Given the description of an element on the screen output the (x, y) to click on. 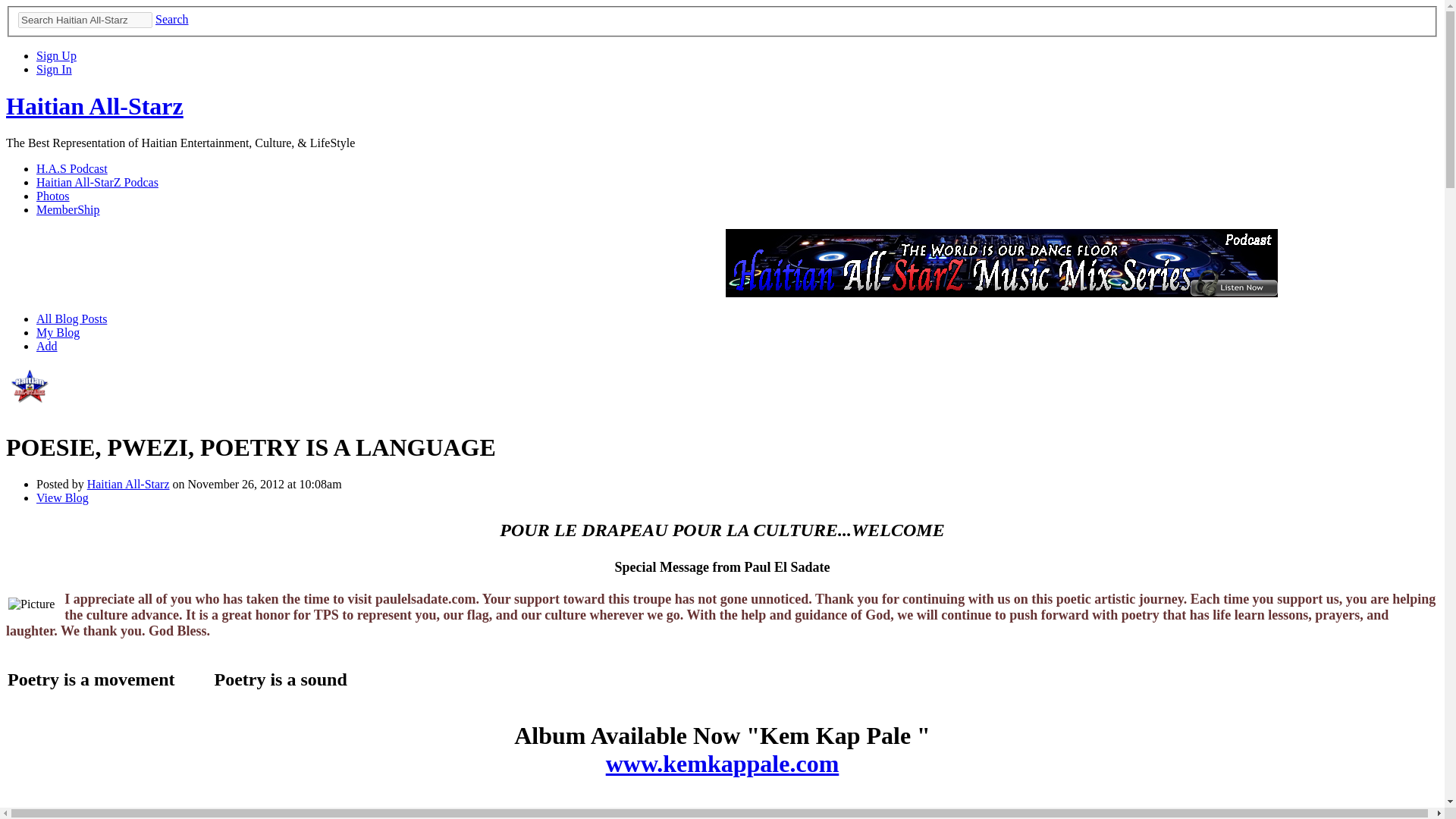
Sign Up (56, 55)
Haitian All-Starz (30, 409)
Add (47, 345)
My Blog (58, 332)
Haitian All-StarZ Podcas (97, 182)
Photos (52, 195)
Search (172, 19)
Haitian All-Starz (128, 483)
www.kemkappale.com (722, 763)
Sign In (53, 69)
Posted by (61, 483)
on November 26, 2012 at 10:08am (256, 483)
View Blog (62, 497)
MemberShip (68, 209)
Advertisement (443, 263)
